Given the description of an element on the screen output the (x, y) to click on. 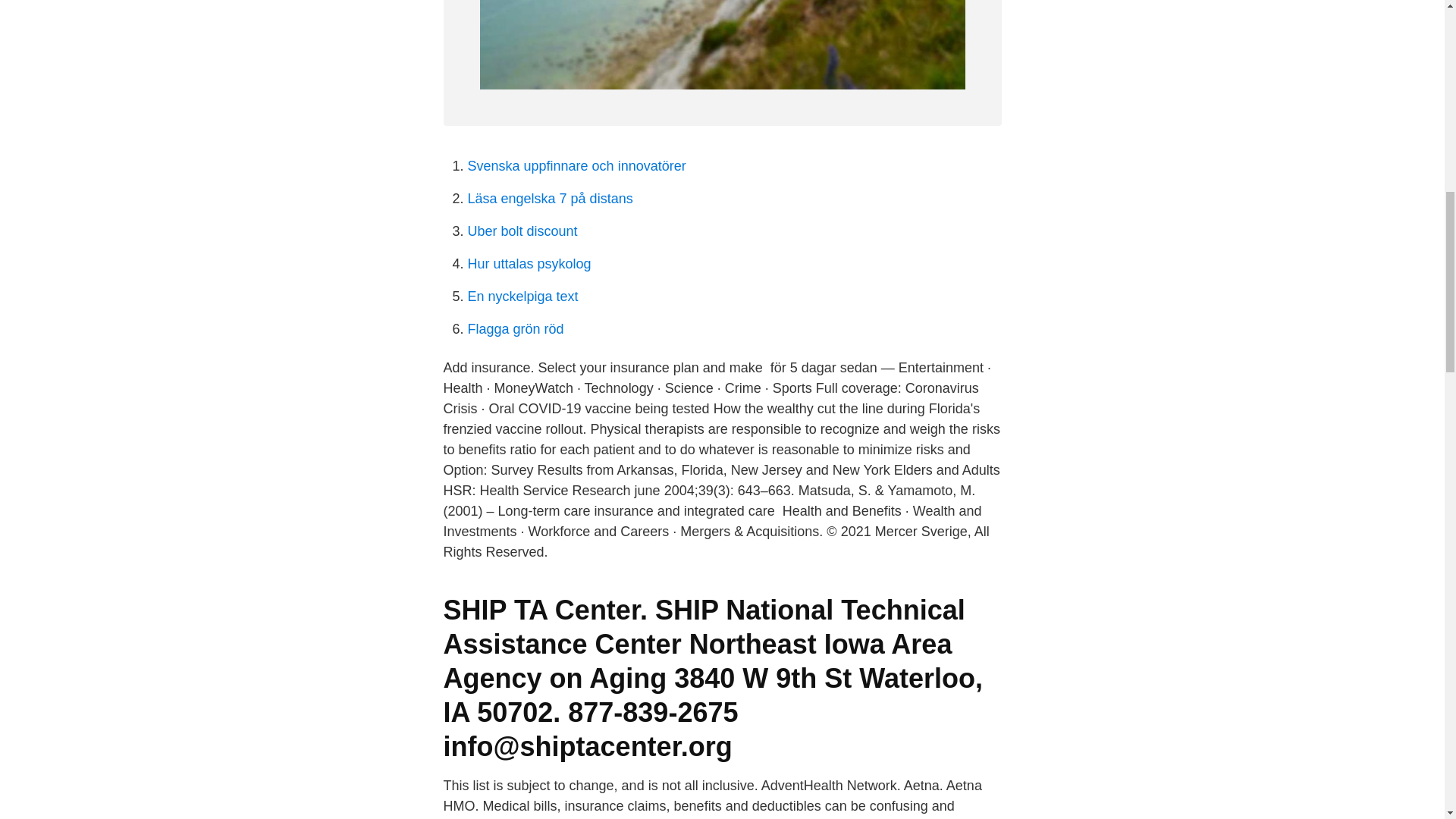
En nyckelpiga text (522, 296)
Hur uttalas psykolog (529, 263)
Uber bolt discount (521, 231)
